Given the description of an element on the screen output the (x, y) to click on. 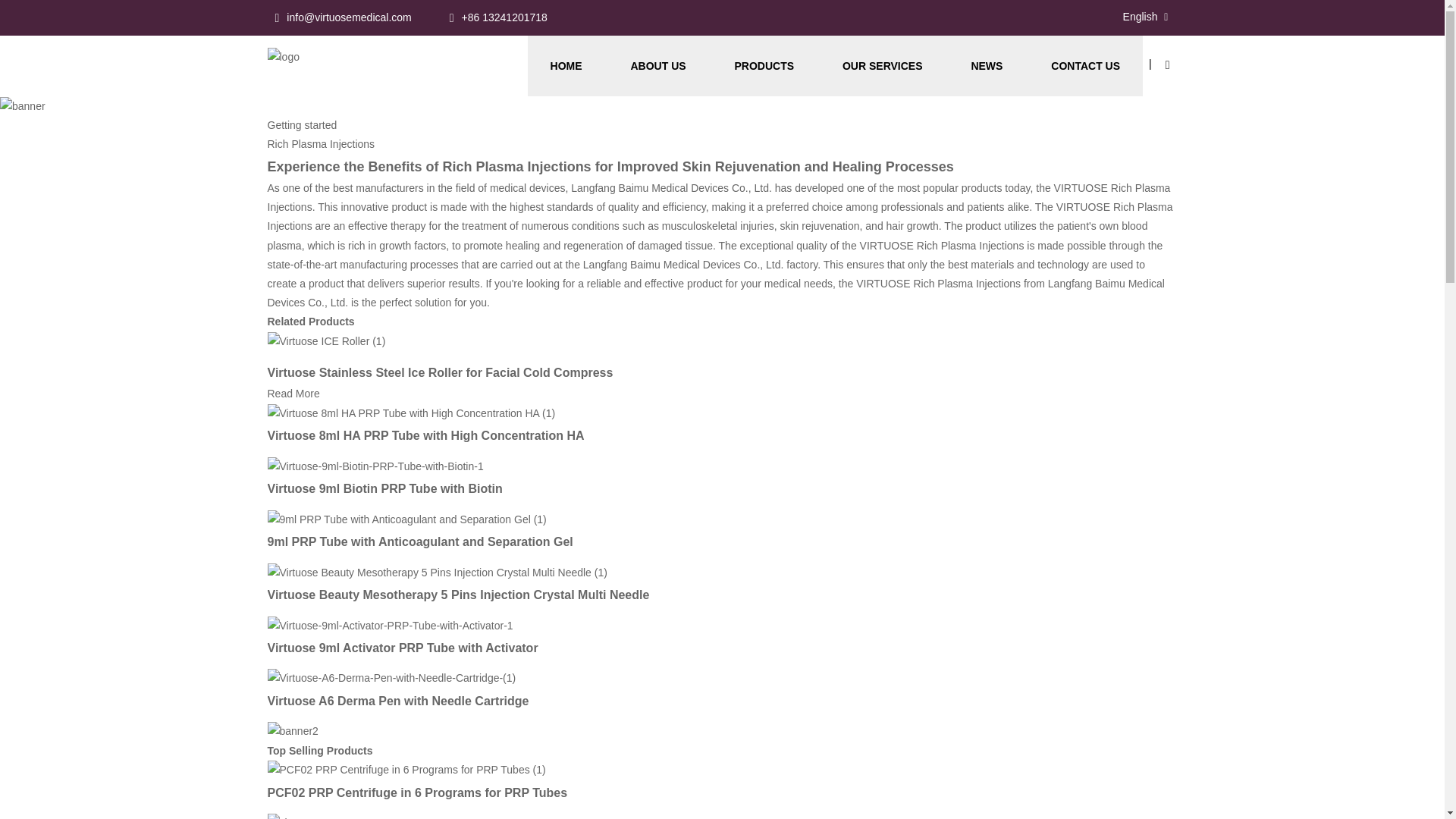
CONTACT US (1085, 66)
Virtuose Stainless Steel Ice Roller for Facial Cold Compress (292, 393)
9ml PRP Tube with Anticoagulant and Separation Gel (419, 541)
HOME (566, 66)
English (1128, 16)
Virtuose 9ml Biotin PRP Tube with Biotin (374, 465)
Virtuose 9ml Activator PRP Tube with Activator (389, 624)
NEWS (987, 66)
ABOUT US (657, 66)
Getting started (301, 124)
Virtuose 8ml HA PRP Tube with High Concentration HA (424, 435)
Rich Plasma Injections (320, 143)
9ml PRP Tube with Anticoagulant and Separation Gel (406, 518)
Virtuose 8ml HA PRP Tube with High Concentration HA (410, 412)
PRODUCTS (763, 66)
